Given the description of an element on the screen output the (x, y) to click on. 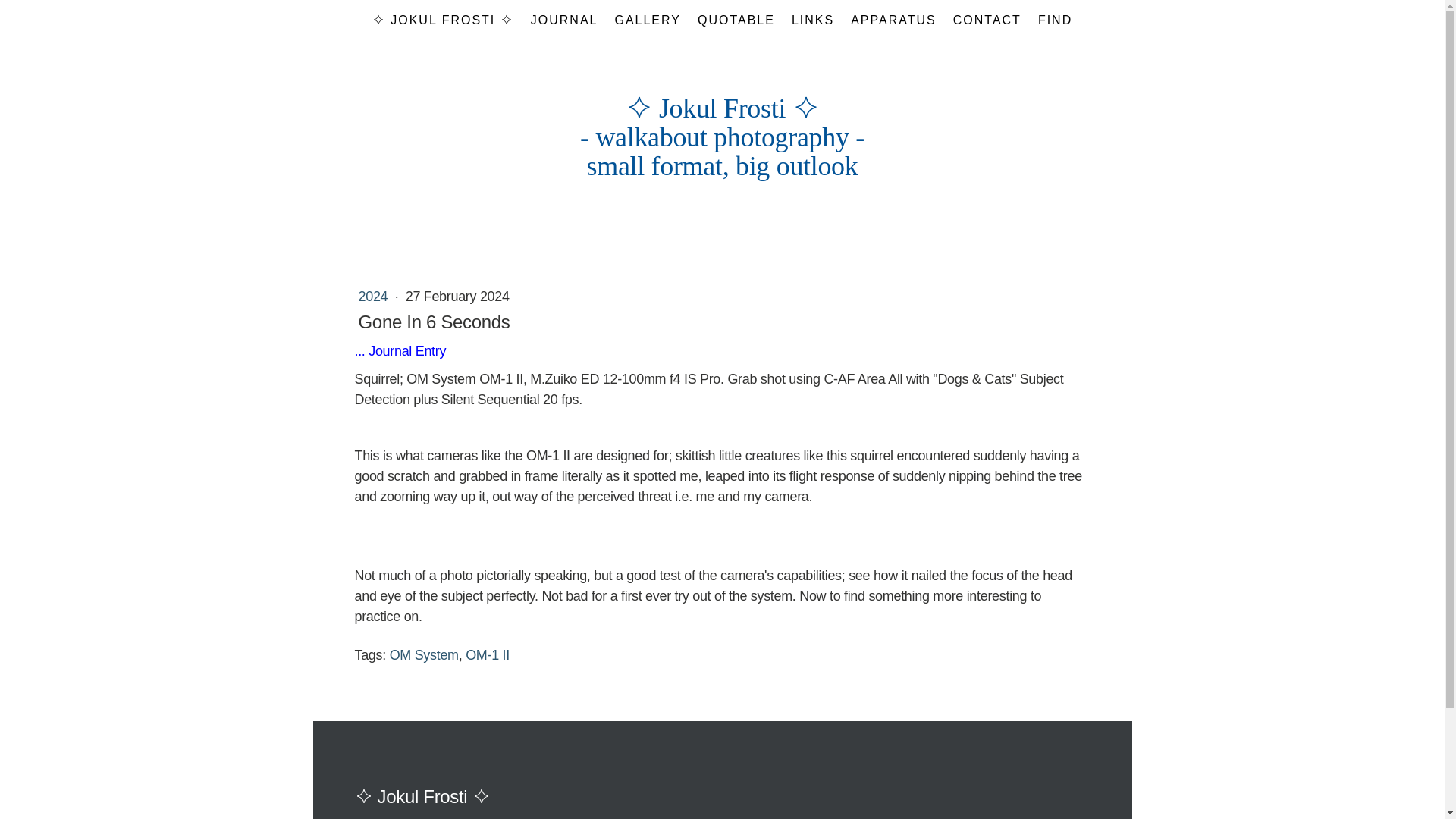
APPARATUS (893, 20)
LINKS (813, 20)
FIND (1054, 20)
OM System (424, 654)
2024 (374, 296)
CONTACT (986, 20)
QUOTABLE (735, 20)
OM-1 II (487, 654)
GALLERY (646, 20)
JOURNAL (564, 20)
